Given the description of an element on the screen output the (x, y) to click on. 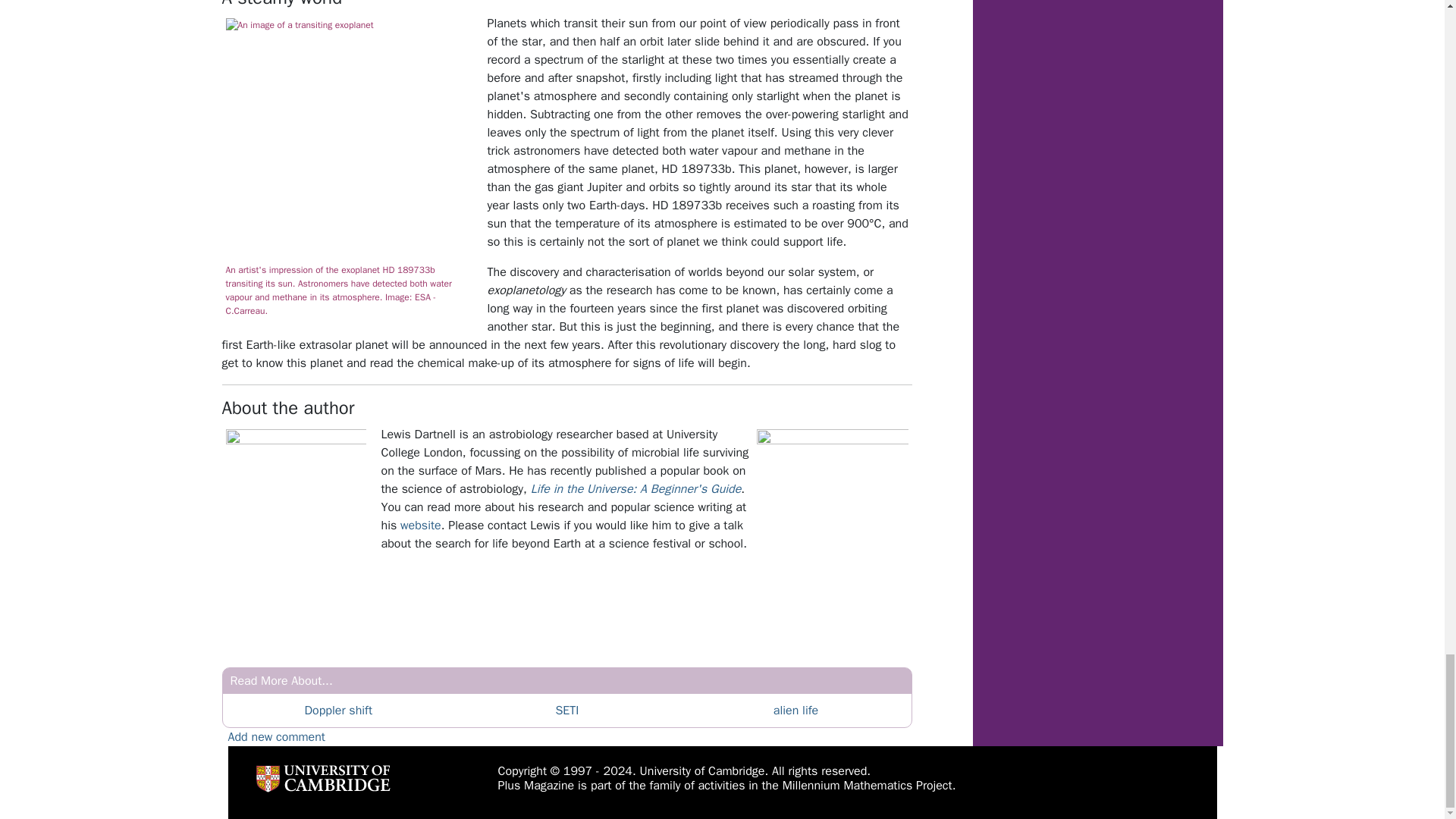
alien life (795, 710)
Share your thoughts and opinions. (275, 736)
Add new comment (275, 736)
Doppler shift (338, 710)
Life in the Universe: A Beginner's Guide (636, 488)
website (420, 525)
SETI (566, 710)
